Given the description of an element on the screen output the (x, y) to click on. 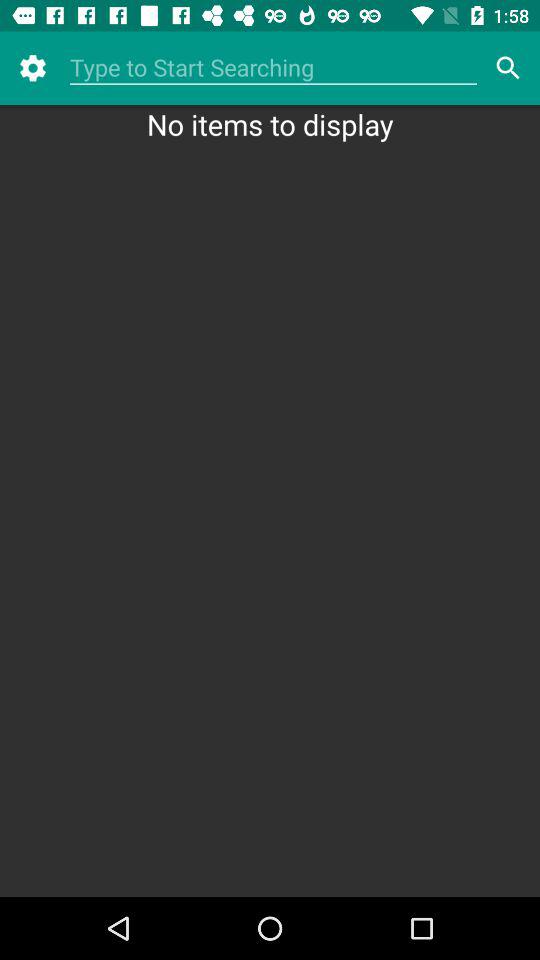
tap item above no items to icon (273, 67)
